Given the description of an element on the screen output the (x, y) to click on. 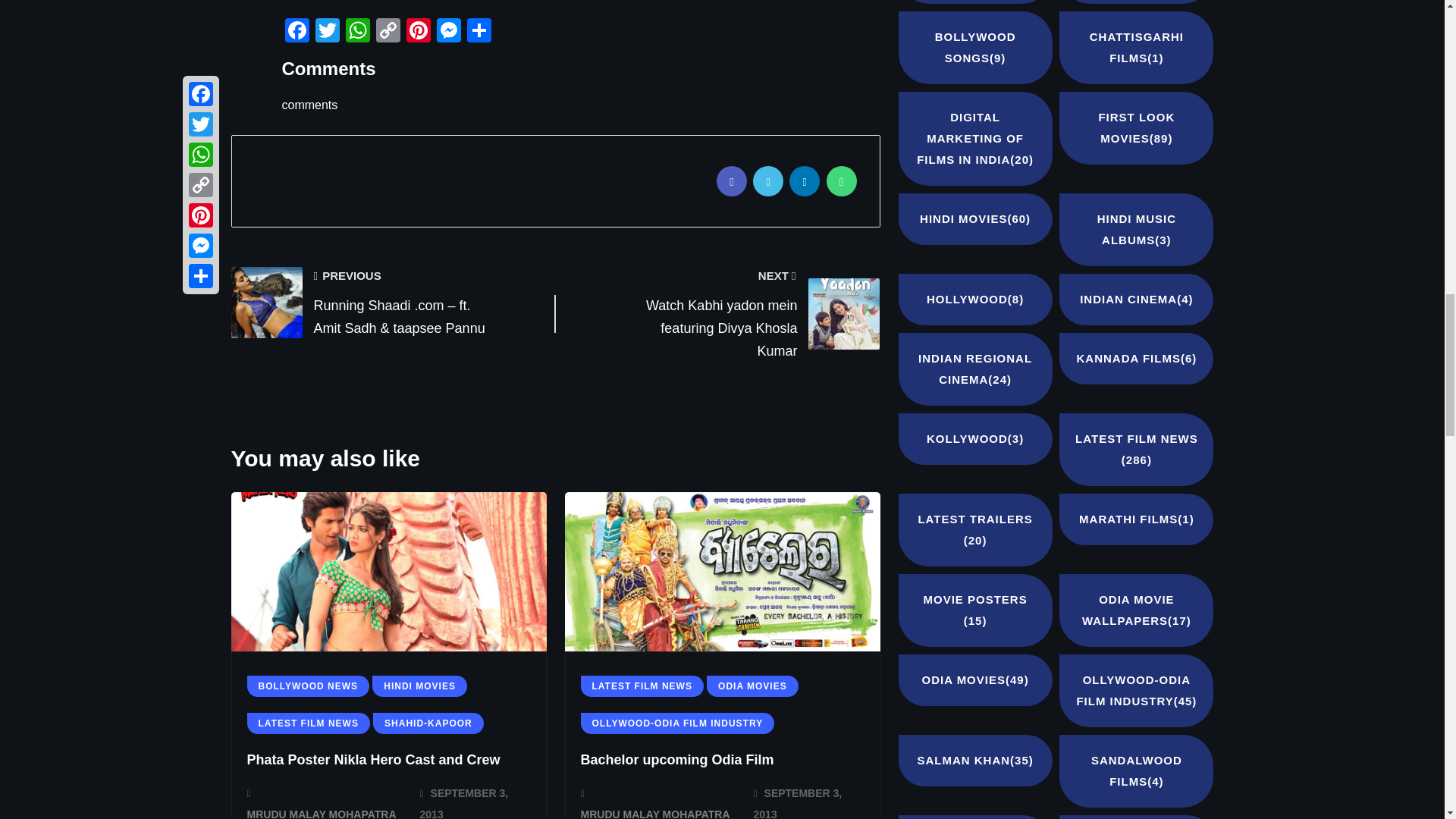
Twitter (327, 31)
WhatsApp (357, 31)
Facebook (297, 31)
Copy Link (387, 31)
